Given the description of an element on the screen output the (x, y) to click on. 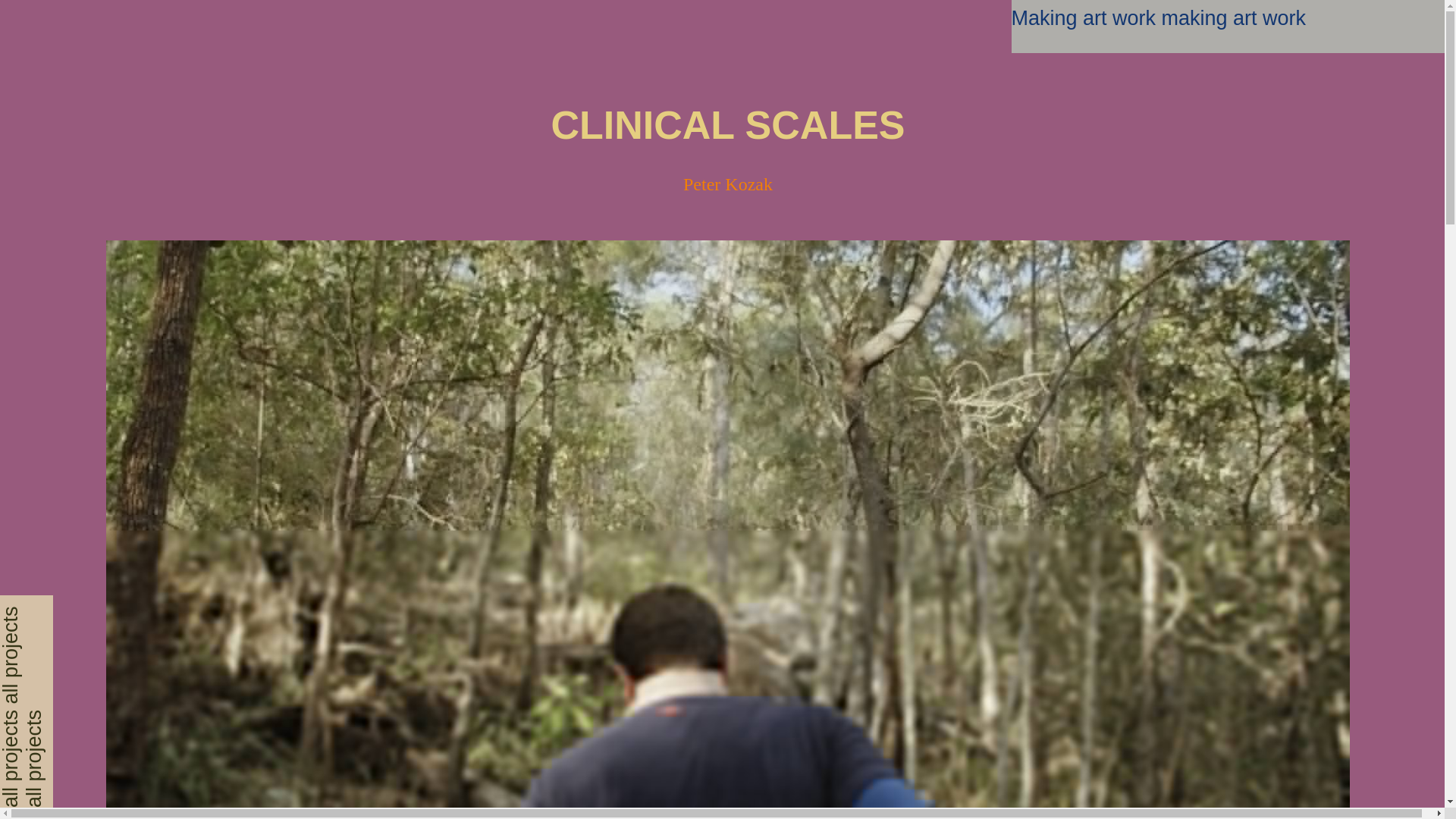
Making art work making art work  (1228, 18)
all projects all projects all projects  (105, 618)
